Given the description of an element on the screen output the (x, y) to click on. 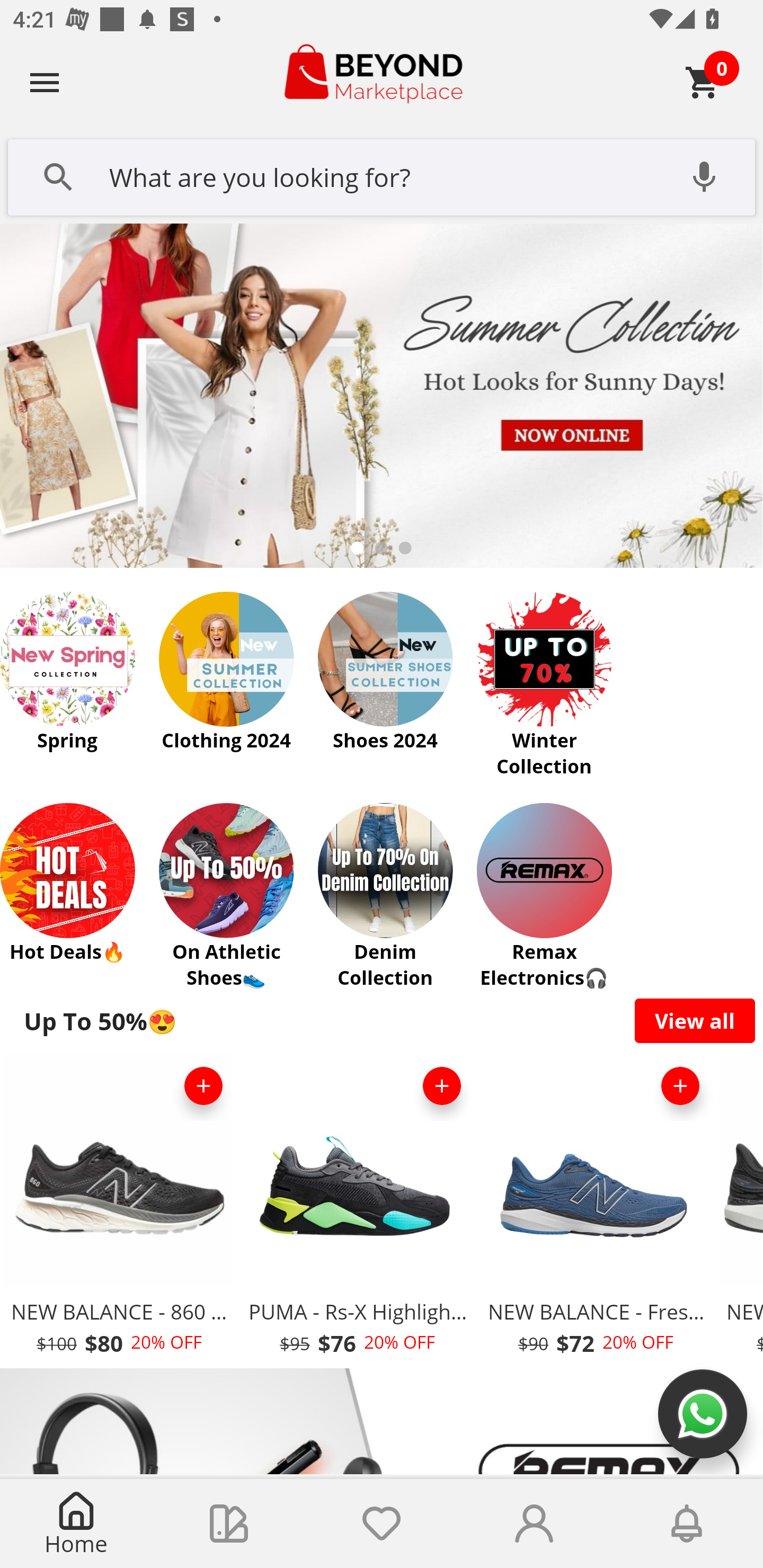
Navigate up (44, 82)
What are you looking for? (381, 175)
View all (694, 1020)
NEW BALANCE - 860 Running Shoes $100 $80 20% OFF (119, 1209)
Collections (228, 1523)
Wishlist (381, 1523)
Account (533, 1523)
Notifications (686, 1523)
